Given the description of an element on the screen output the (x, y) to click on. 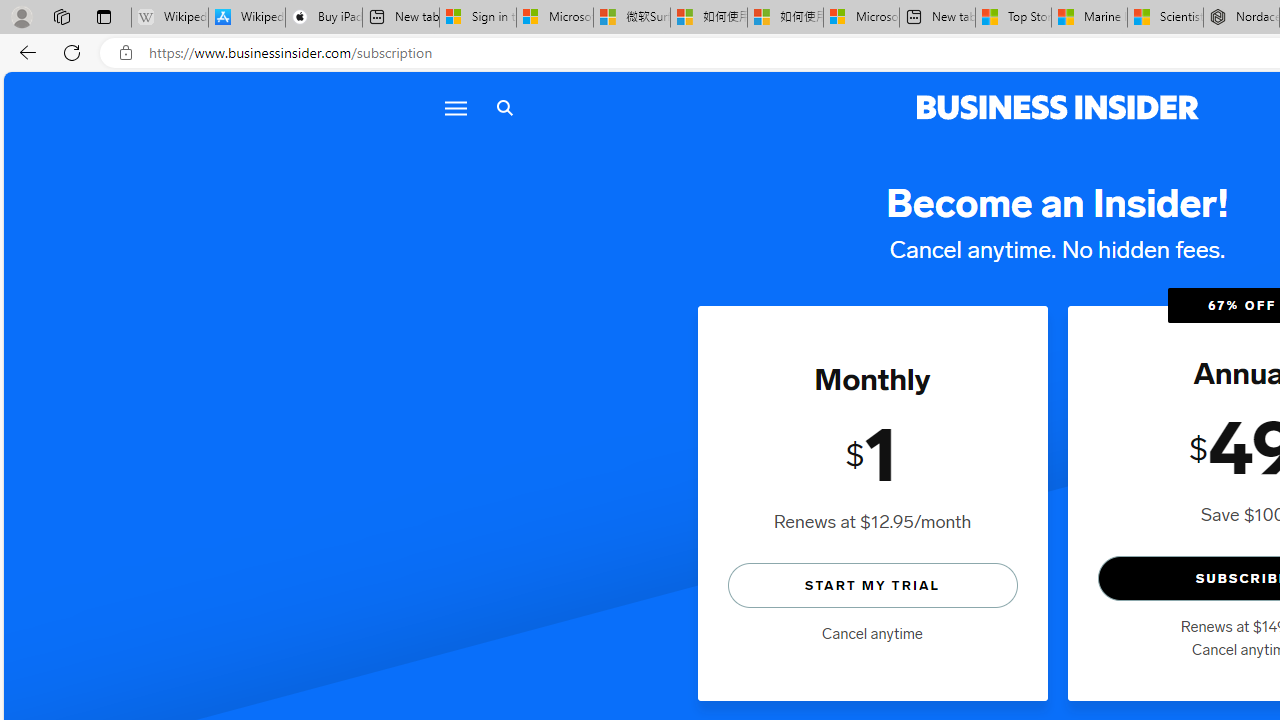
Menu (454, 107)
Go to the search page. (504, 107)
START MY TRIAL (872, 584)
Cancel anytime (872, 633)
